Given the description of an element on the screen output the (x, y) to click on. 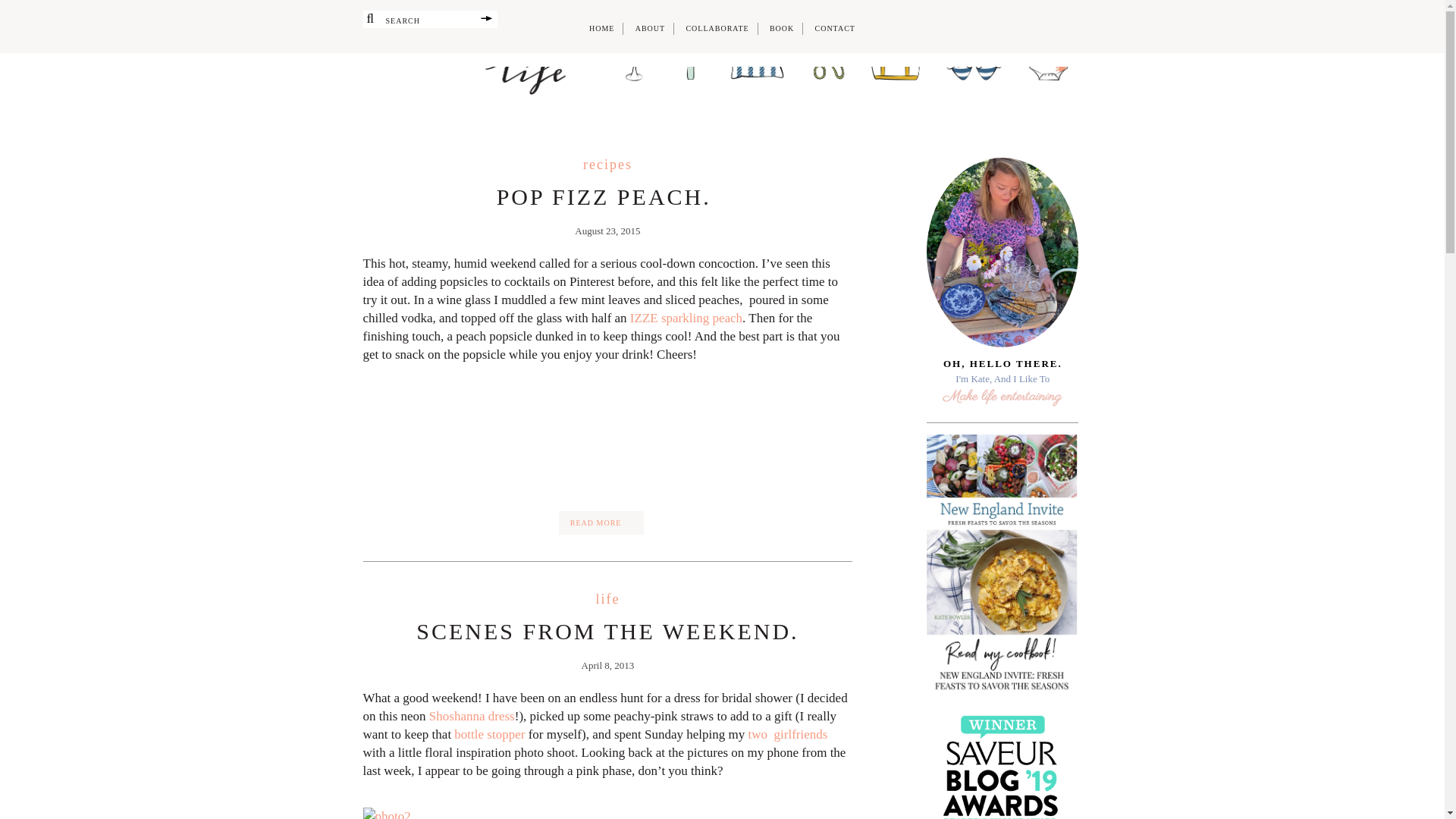
girlfriends (801, 734)
Shoshanna dress (472, 716)
Life (607, 598)
BOOK (781, 28)
SCENES FROM THE WEEKEND. (606, 631)
recipes (607, 164)
POP FIZZ PEACH.  (607, 196)
READ MORE (602, 522)
Recipes (607, 164)
HOME (601, 28)
 bottle stopper (487, 734)
life (607, 598)
ABOUT (649, 28)
Scenes from the weekend. (606, 631)
